Given the description of an element on the screen output the (x, y) to click on. 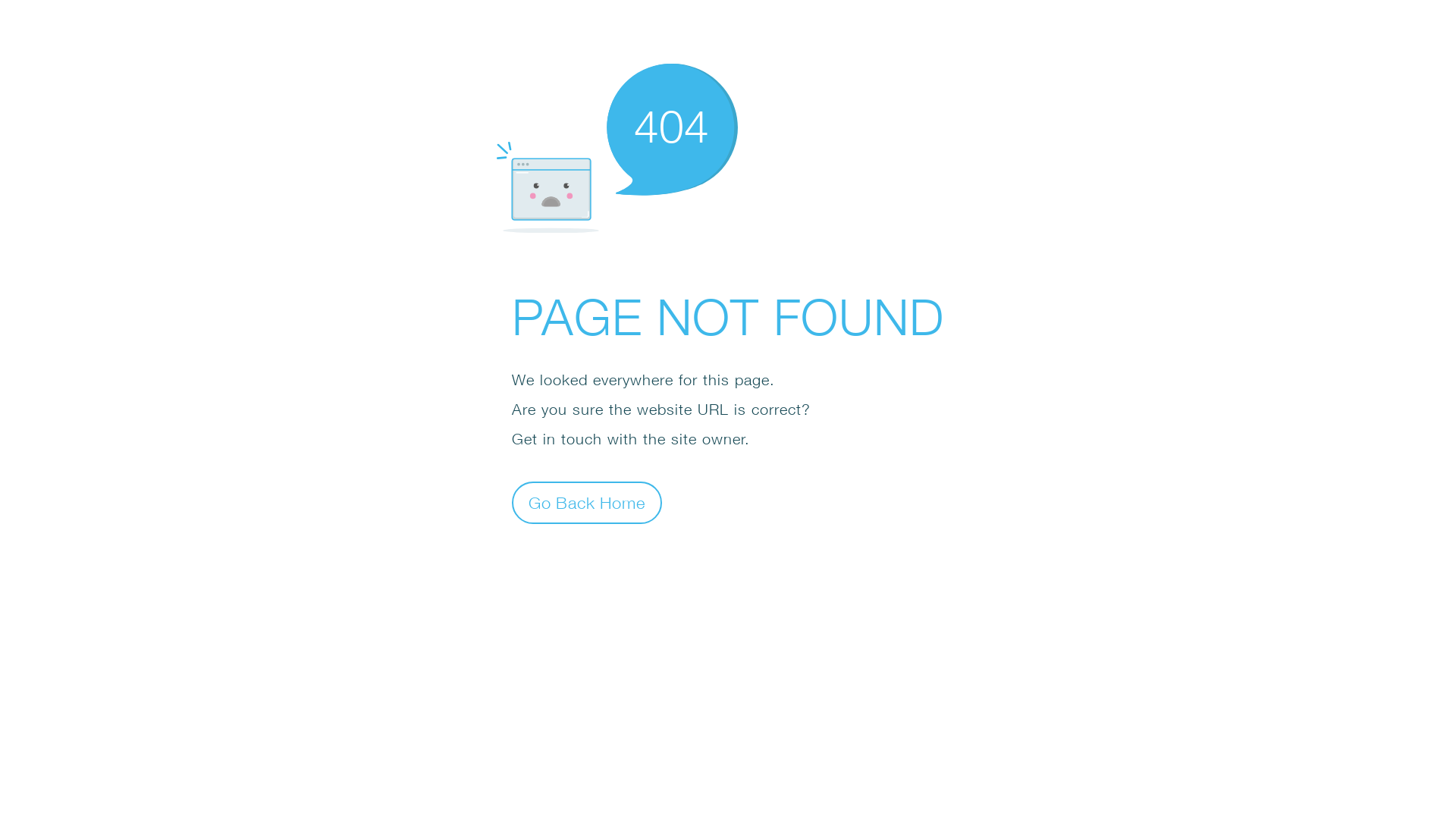
Go Back Home Element type: text (586, 502)
